Given the description of an element on the screen output the (x, y) to click on. 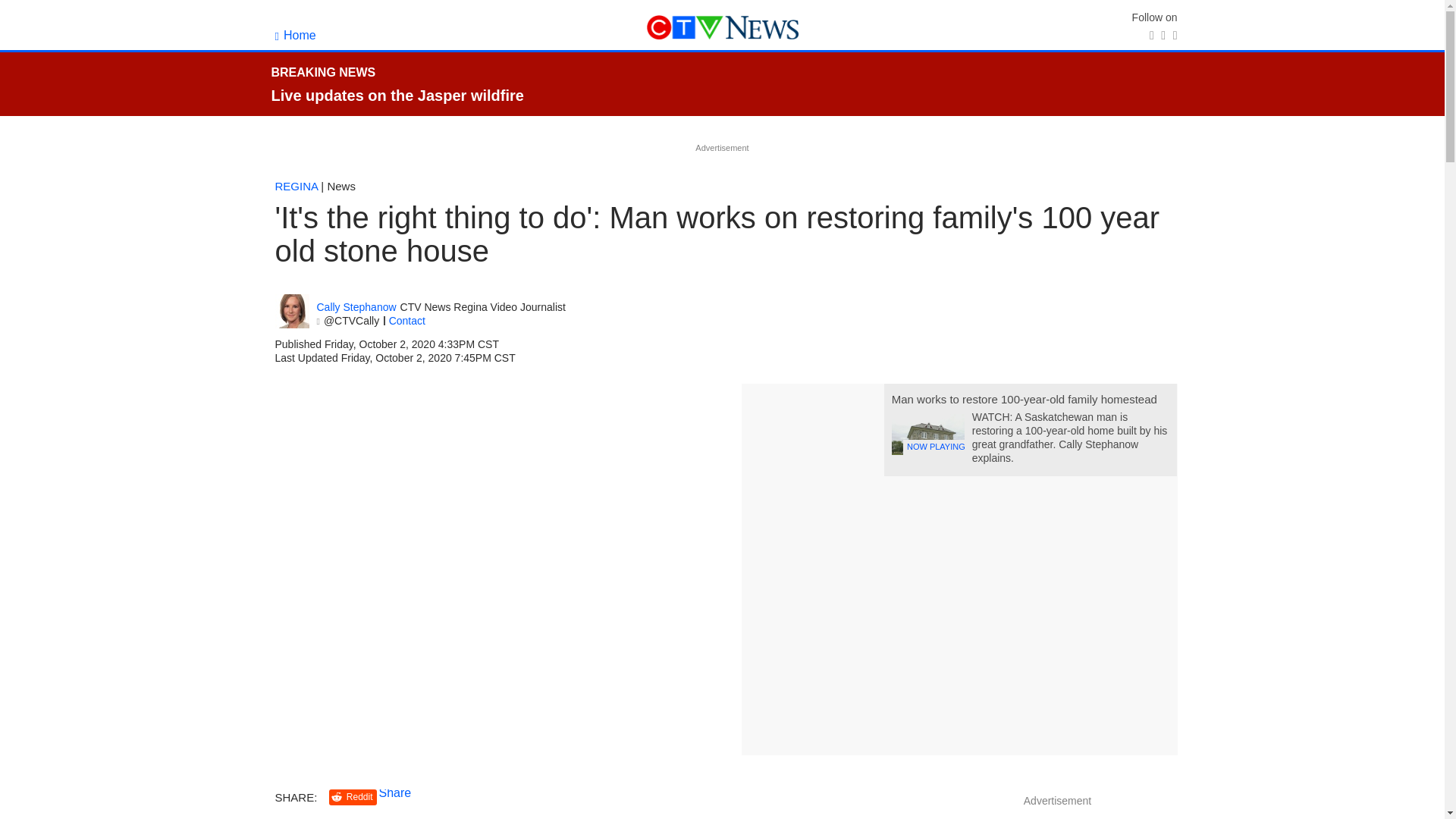
  NOW PLAYING (927, 434)
Contact (406, 320)
Live updates on the Jasper wildfire (397, 95)
Reddit (353, 797)
Share (395, 792)
Home (295, 34)
Man works to restore 100-year-old family homestead (1024, 399)
Cally Stephanow (356, 307)
Cally Stephanow (291, 311)
Jasper updates: 'Significant loss' within Jasper townsite (397, 95)
REGINA (296, 185)
